Given the description of an element on the screen output the (x, y) to click on. 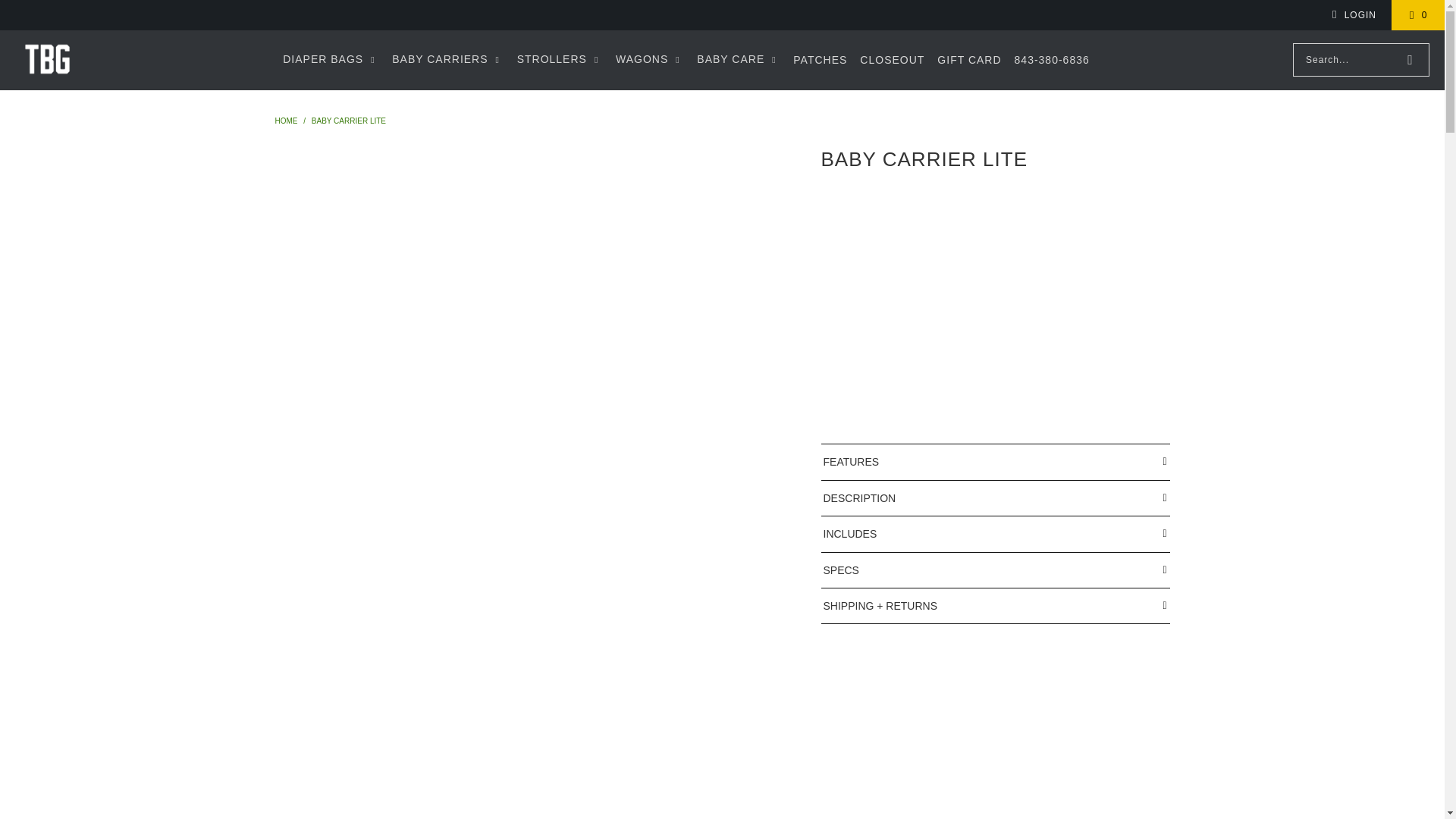
Tactical Baby Gear (47, 59)
Tactical Baby Gear (287, 121)
My Account  (1350, 14)
LOGIN (1350, 14)
